Given the description of an element on the screen output the (x, y) to click on. 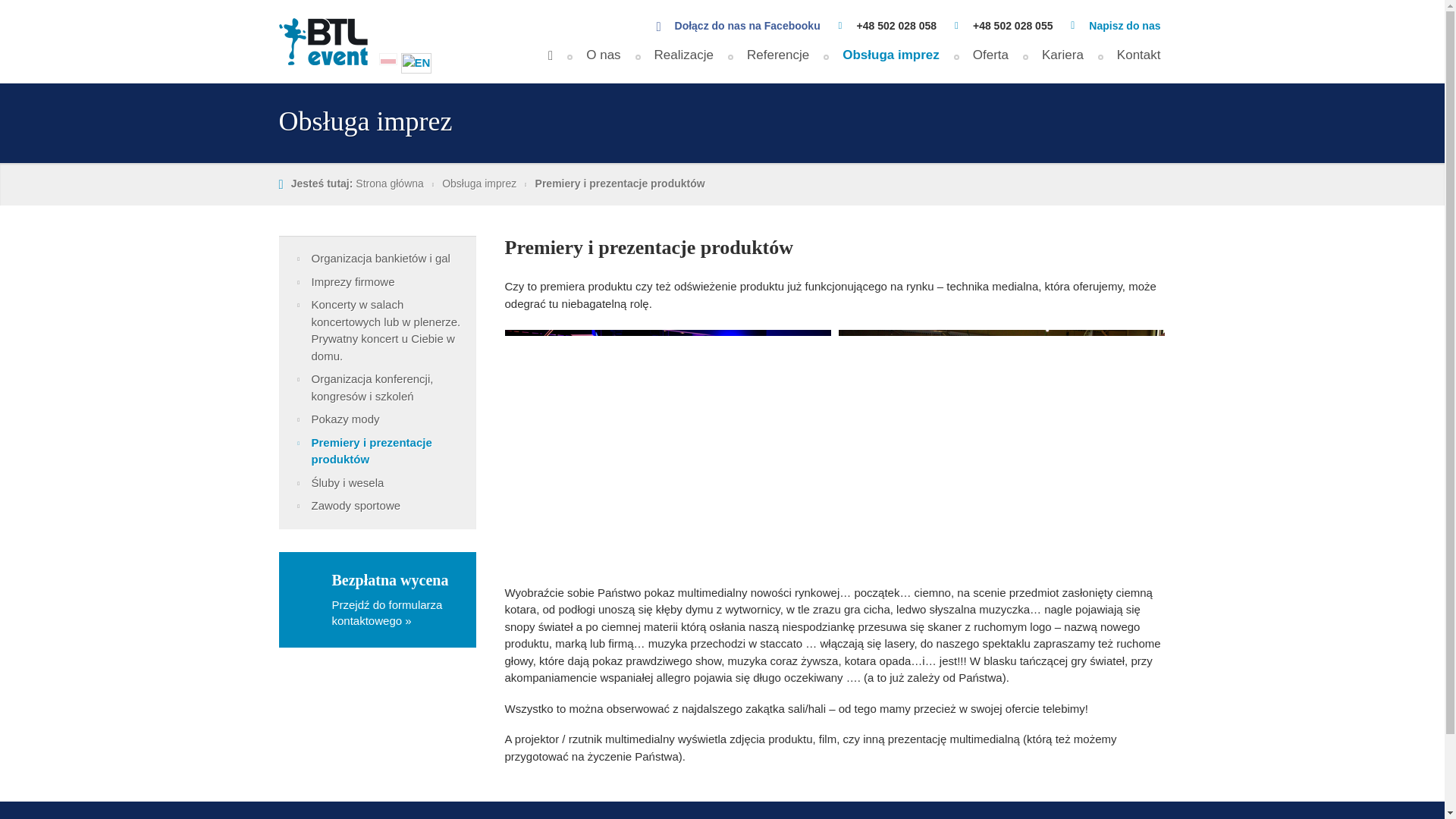
Realizacje (683, 60)
Napisz do nas (1124, 25)
Oferta (990, 60)
Kontakt (1138, 60)
Kariera (1062, 60)
Imprezy firmowe (377, 282)
Referencje (777, 60)
O nas (603, 60)
